Given the description of an element on the screen output the (x, y) to click on. 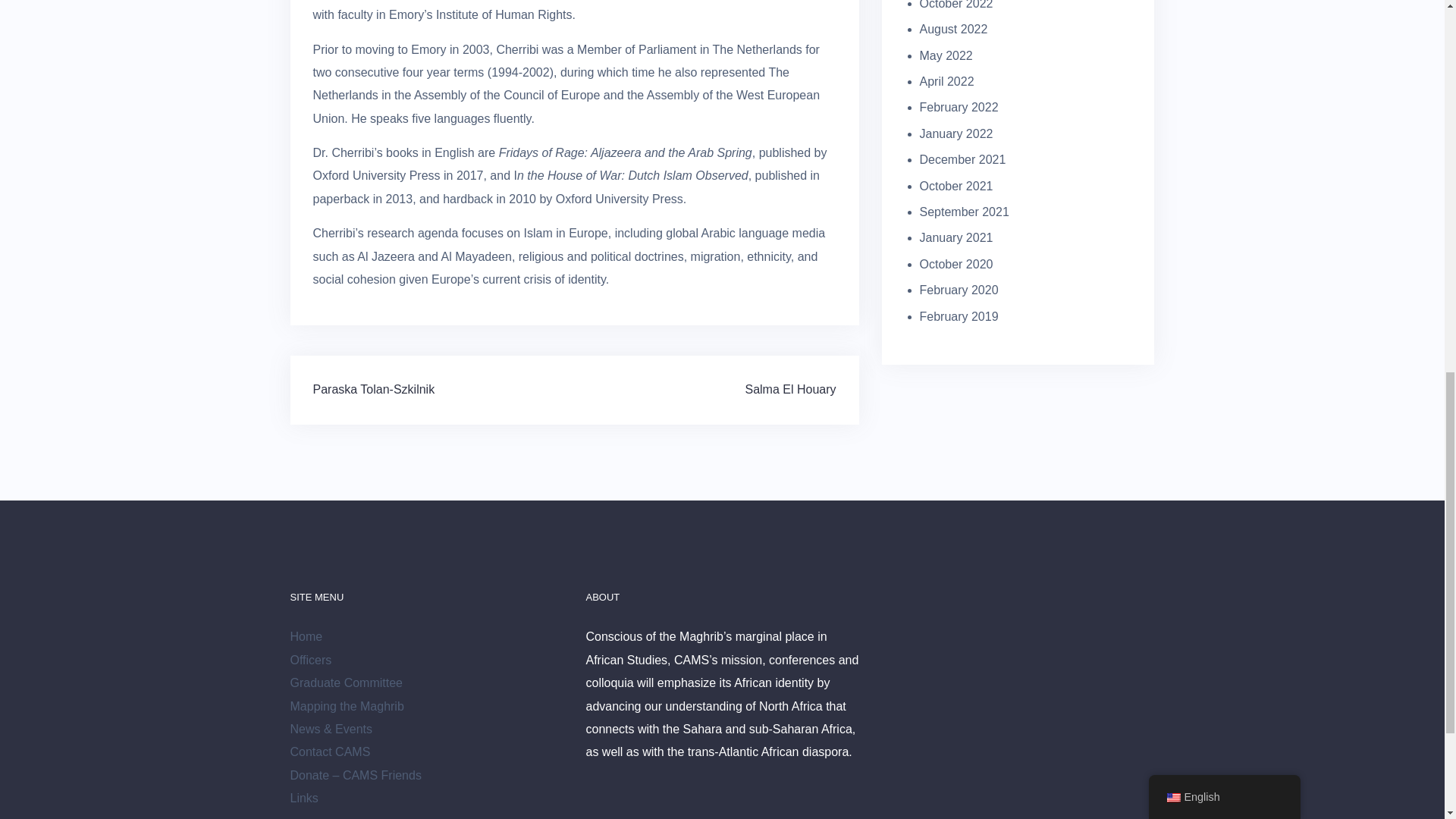
Paraska Tolan-Szkilnik (373, 389)
October 2022 (955, 4)
December 2021 (962, 159)
February 2022 (957, 106)
October 2021 (955, 185)
April 2022 (946, 81)
January 2022 (955, 133)
Salma El Houary (789, 389)
May 2022 (945, 55)
August 2022 (952, 29)
